Given the description of an element on the screen output the (x, y) to click on. 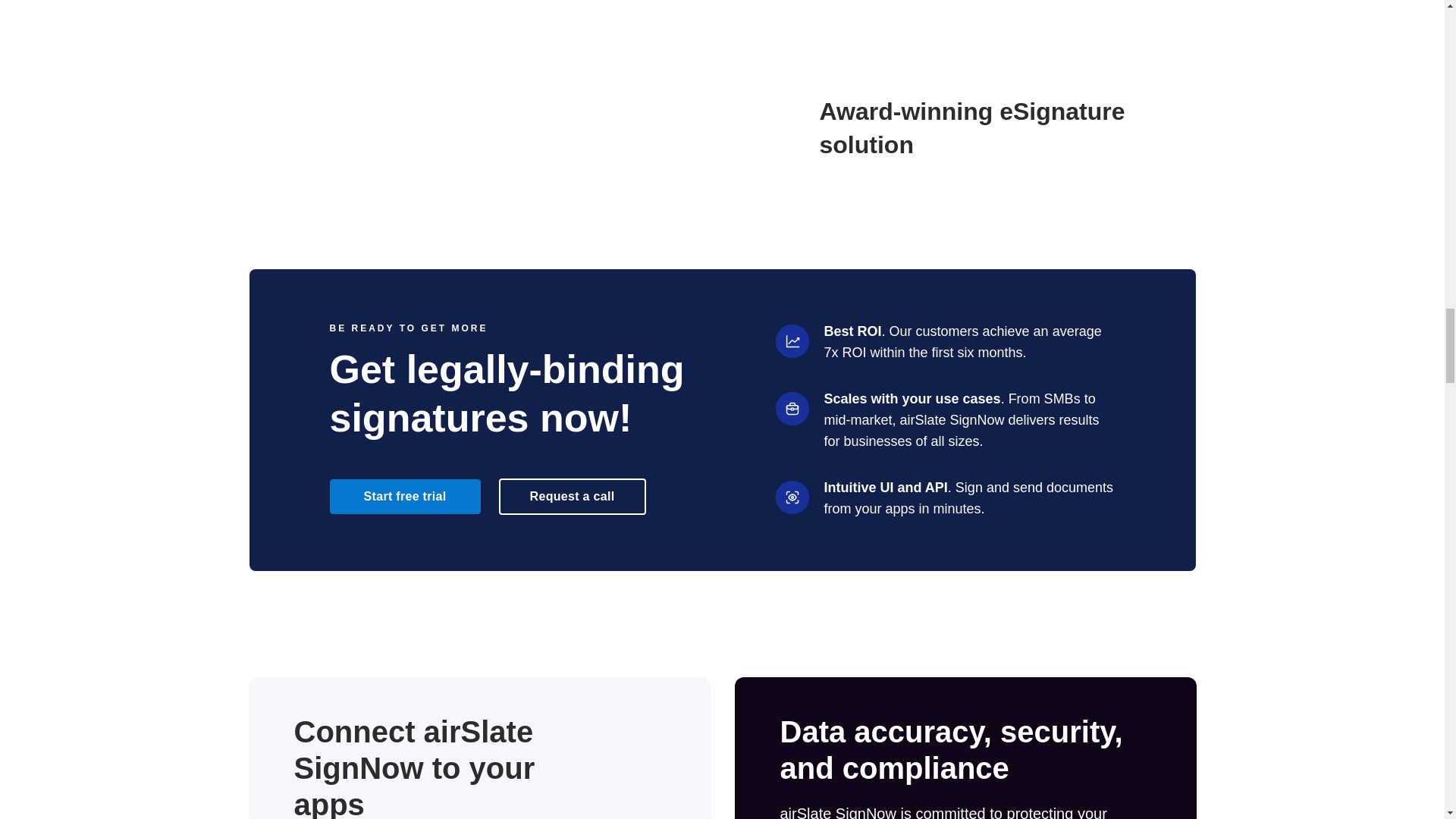
Leader Summer 2024 (558, 127)
Small Business Summer 2024 (690, 127)
Best Support Summer 2024 (425, 127)
Mid Market Summer 2024 (292, 127)
